Given the description of an element on the screen output the (x, y) to click on. 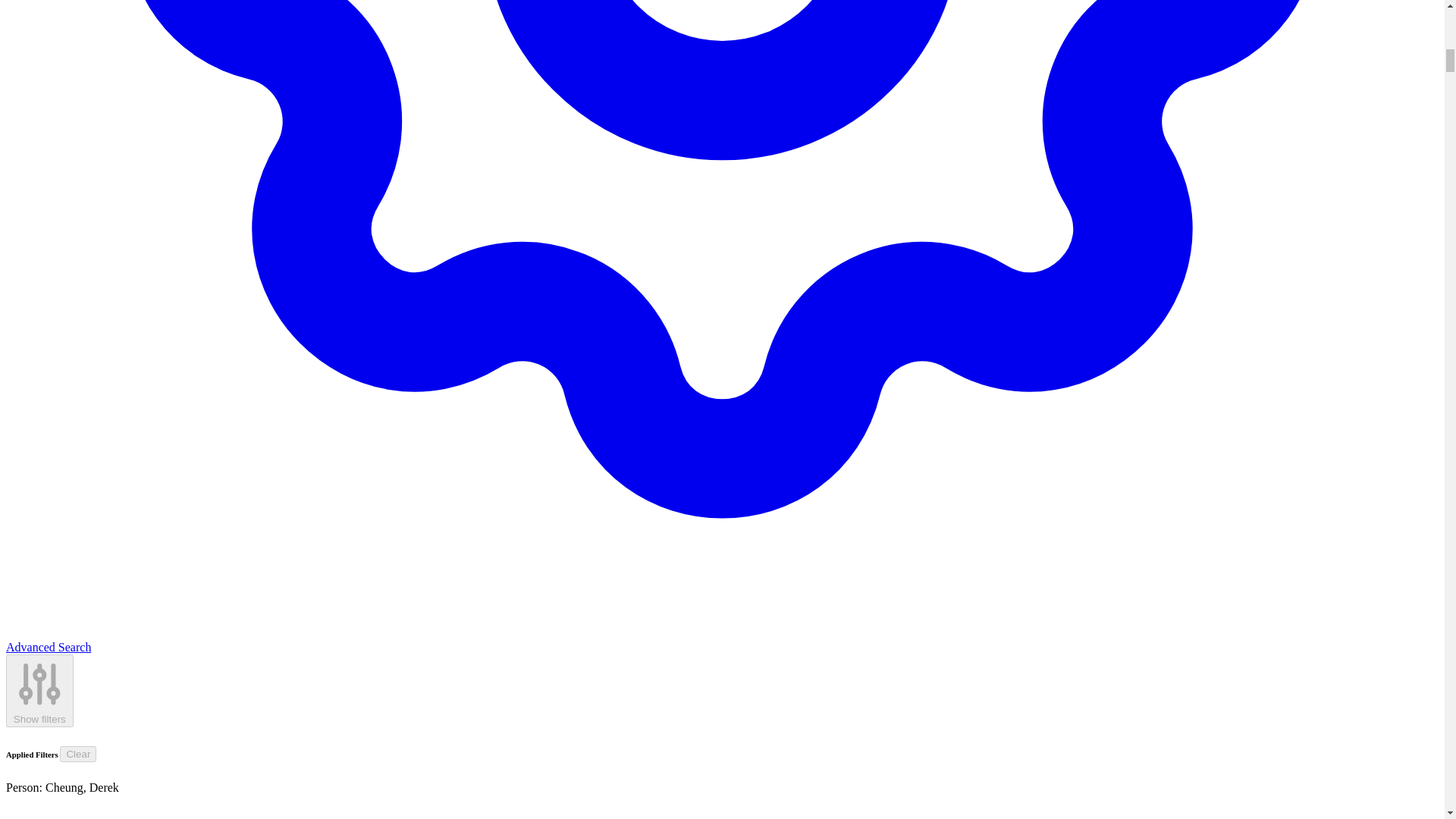
Show filters (39, 691)
Clear (77, 754)
